Given the description of an element on the screen output the (x, y) to click on. 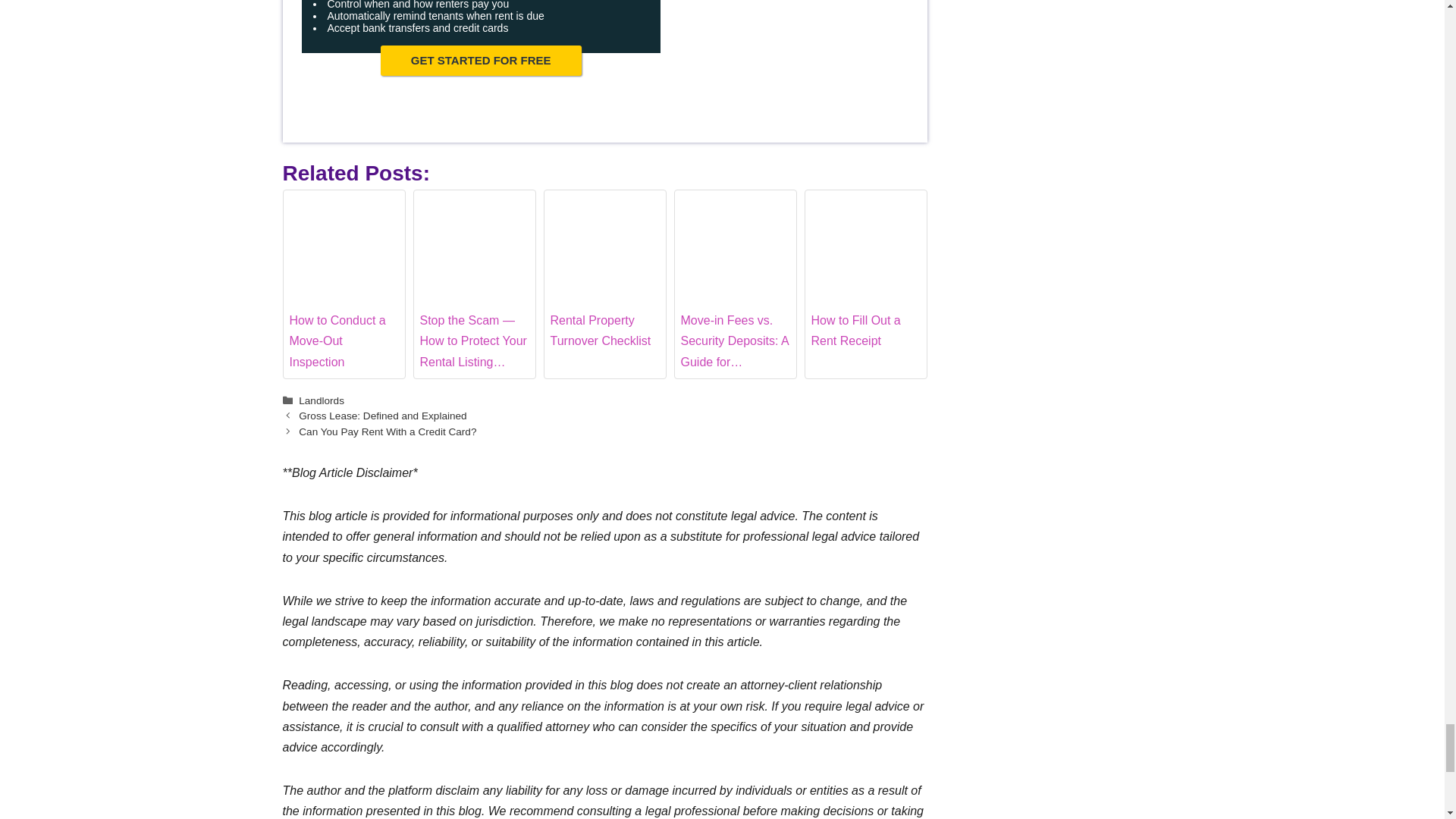
How to Conduct a Move-Out Inspection (343, 232)
Rental Property Turnover Checklist (604, 250)
How to Conduct a Move-Out Inspection (343, 284)
Rental Property Turnover Checklist (604, 284)
How to Fill Out a Rent Receipt (865, 232)
